Given the description of an element on the screen output the (x, y) to click on. 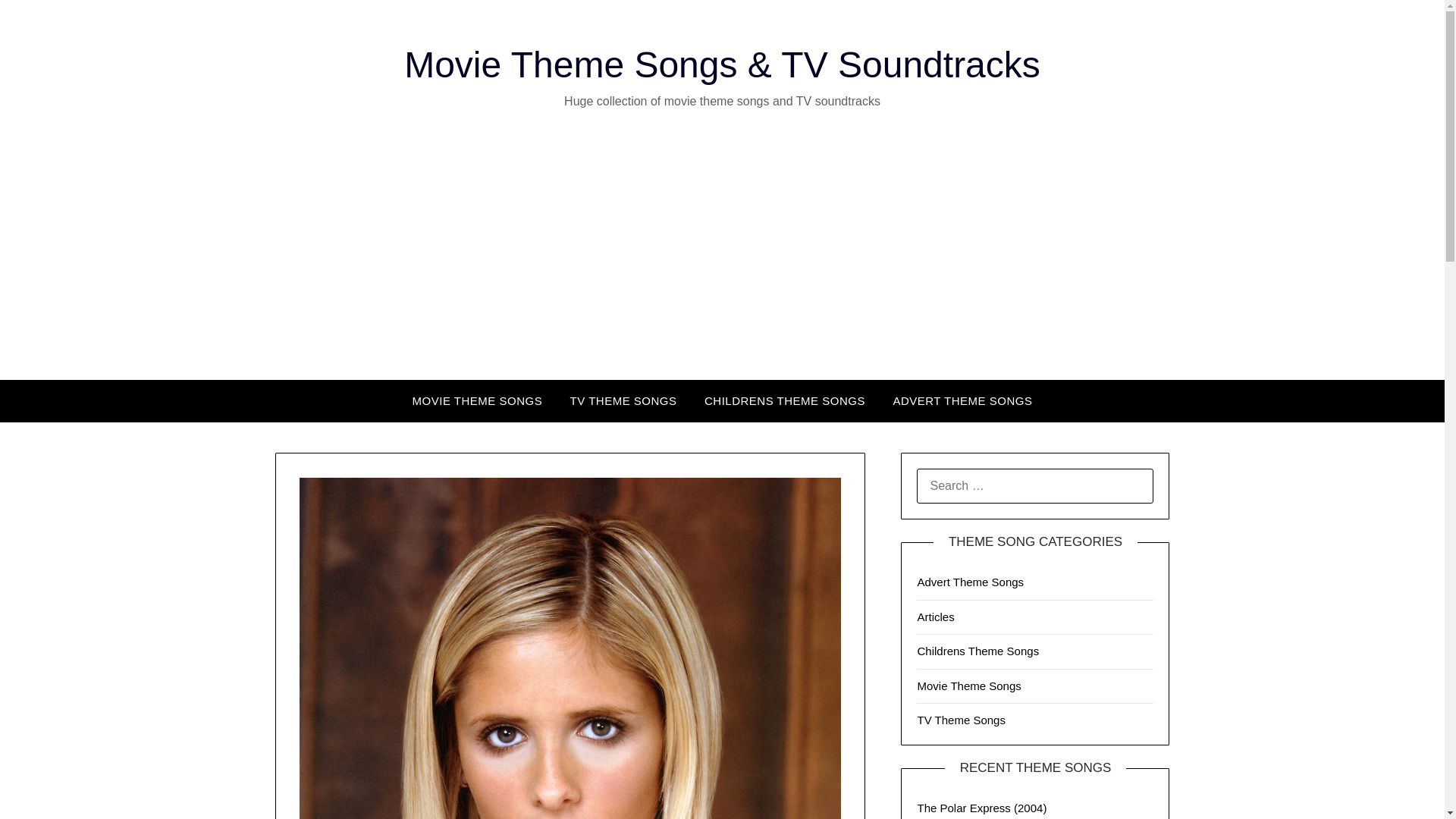
Movie Theme Songs (968, 685)
Advert Theme Songs (970, 581)
CHILDRENS THEME SONGS (785, 400)
ADVERT THEME SONGS (961, 400)
TV Theme Songs (960, 719)
TV THEME SONGS (622, 400)
Search (38, 22)
MOVIE THEME SONGS (477, 400)
Childrens Theme Songs (978, 650)
Articles (935, 616)
